Given the description of an element on the screen output the (x, y) to click on. 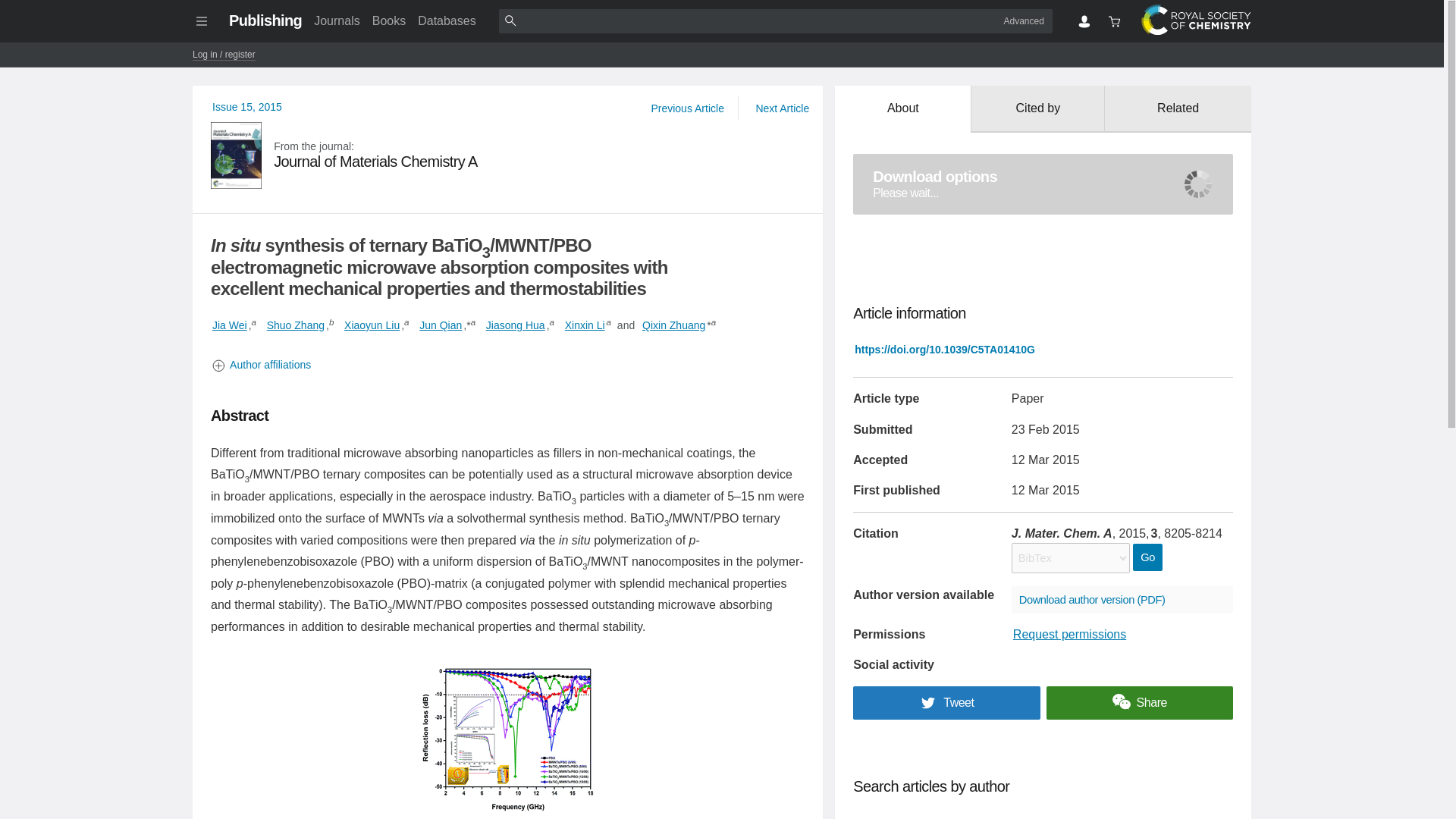
Request permissions (1068, 634)
Jia Wei (229, 324)
Jun Qian (440, 324)
Issue 15, 2015 (247, 106)
Go (1146, 556)
Shuo Zhang (295, 324)
Related (1177, 108)
Cited by (1037, 108)
Issue 15, 2015 (247, 106)
Xinxin Li (585, 324)
About (902, 108)
Qixin Zhuang (673, 324)
Books (389, 20)
Previous Article (1043, 183)
